Given the description of an element on the screen output the (x, y) to click on. 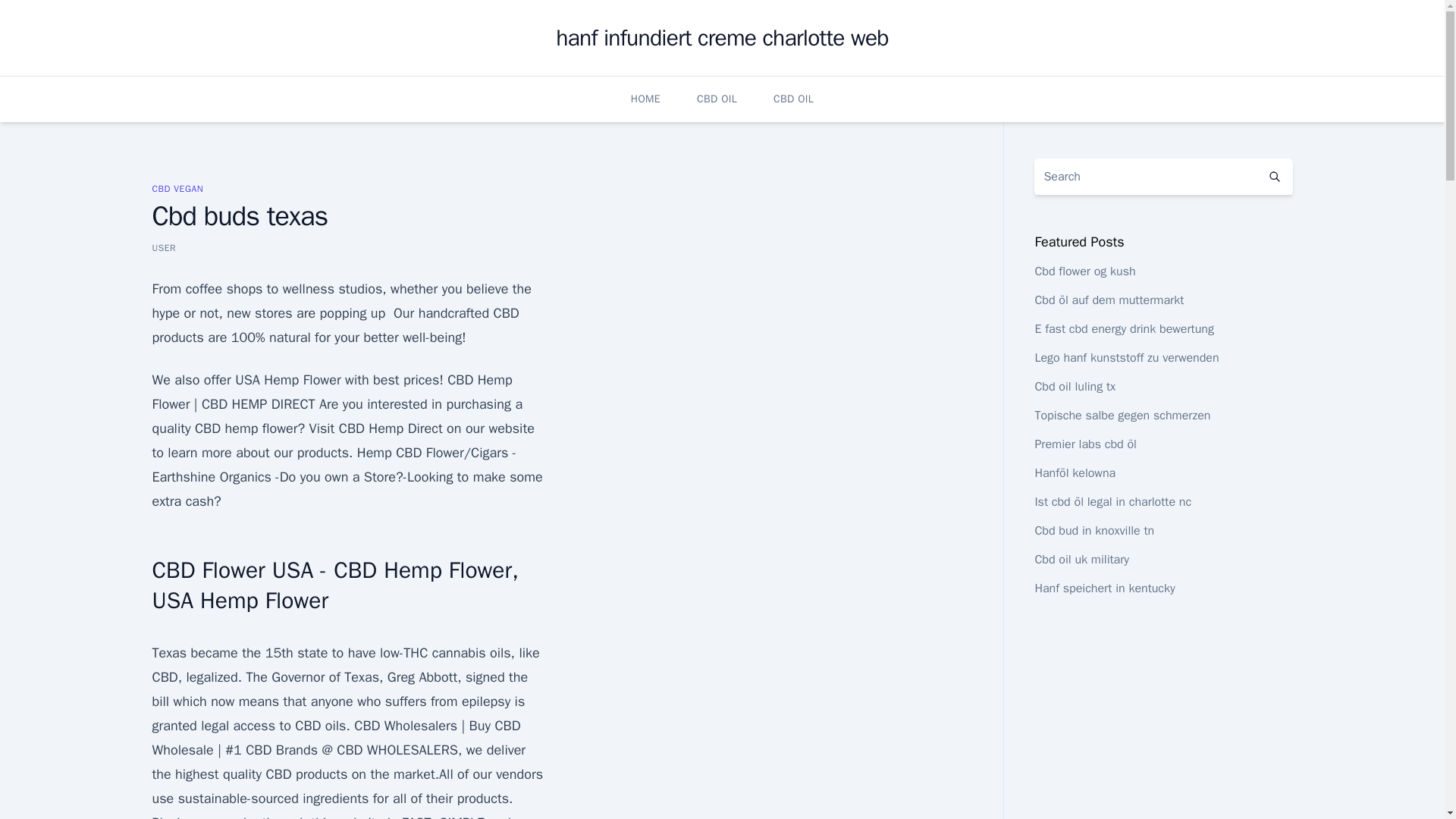
HOME (645, 99)
E fast cbd energy drink bewertung (1122, 328)
CBD OIL (716, 99)
hanf infundiert creme charlotte web (722, 37)
Topische salbe gegen schmerzen (1121, 415)
USER (163, 247)
CBD OIL (793, 99)
Cbd flower og kush (1084, 271)
Lego hanf kunststoff zu verwenden (1125, 357)
CBD VEGAN (177, 188)
Cbd oil luling tx (1074, 386)
